Given the description of an element on the screen output the (x, y) to click on. 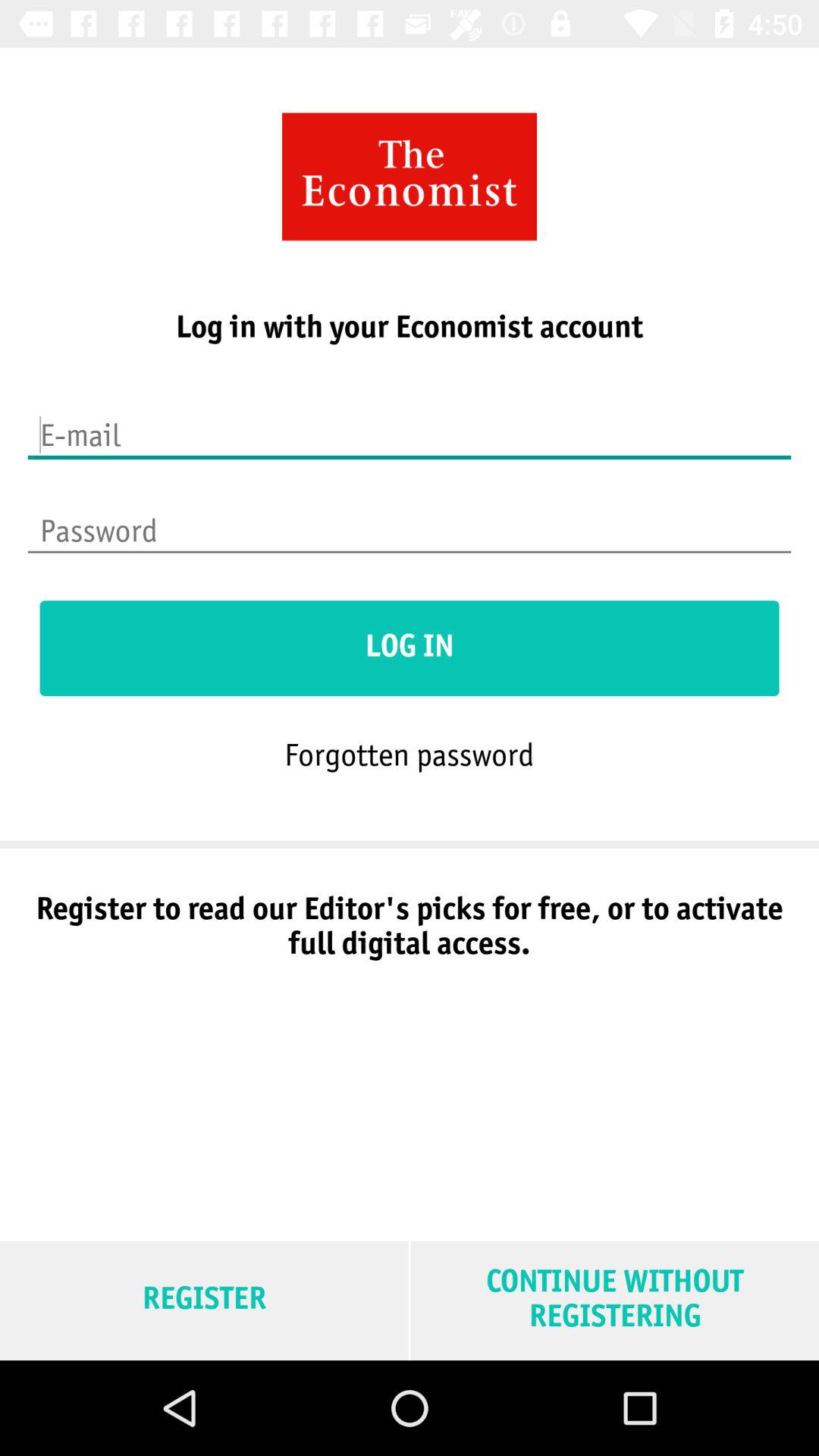
tap item below the register to read item (614, 1300)
